Given the description of an element on the screen output the (x, y) to click on. 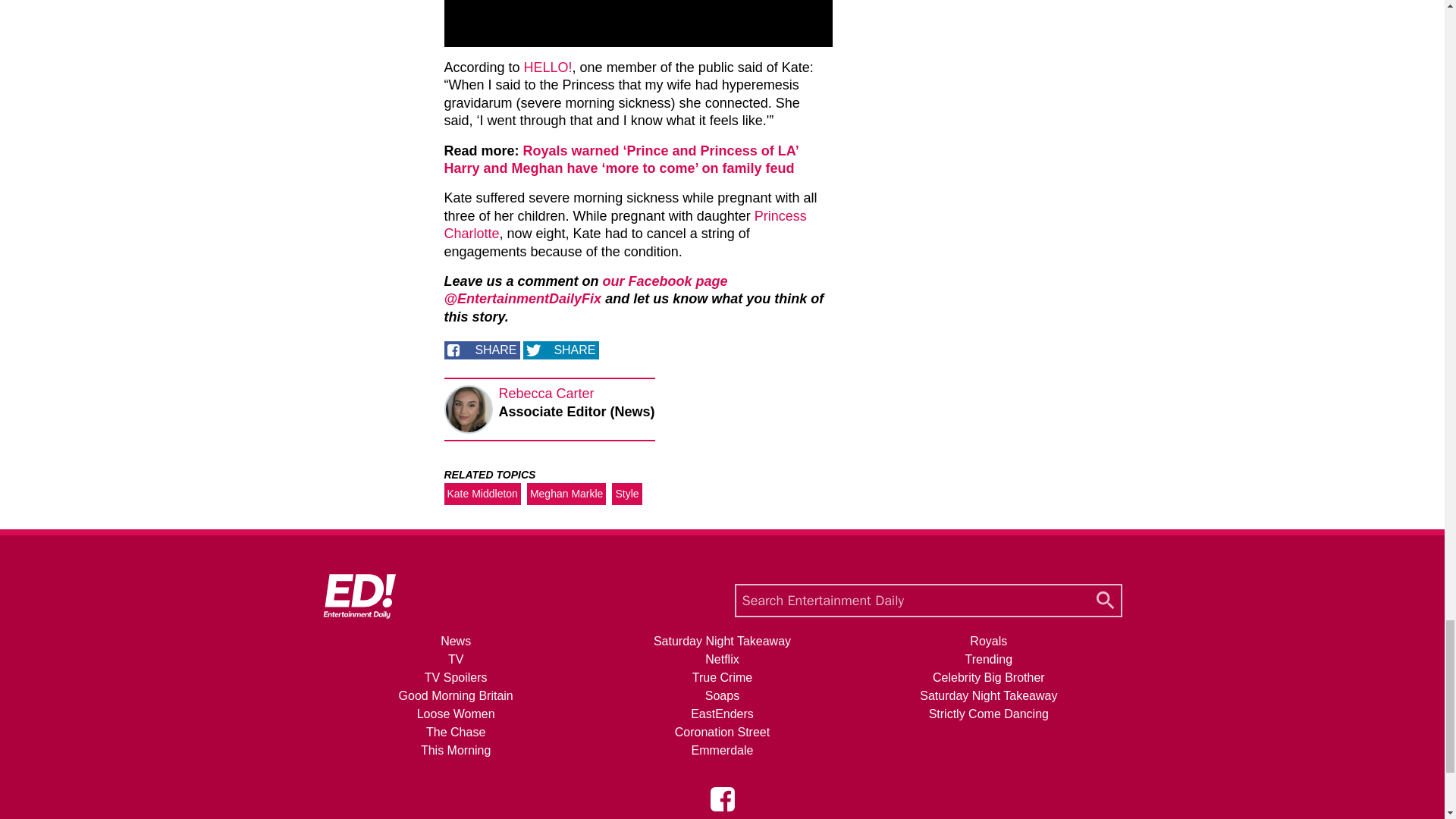
SHARE (481, 350)
HELLO! (548, 67)
Princess Charlotte (625, 224)
SHARE (560, 350)
